Given the description of an element on the screen output the (x, y) to click on. 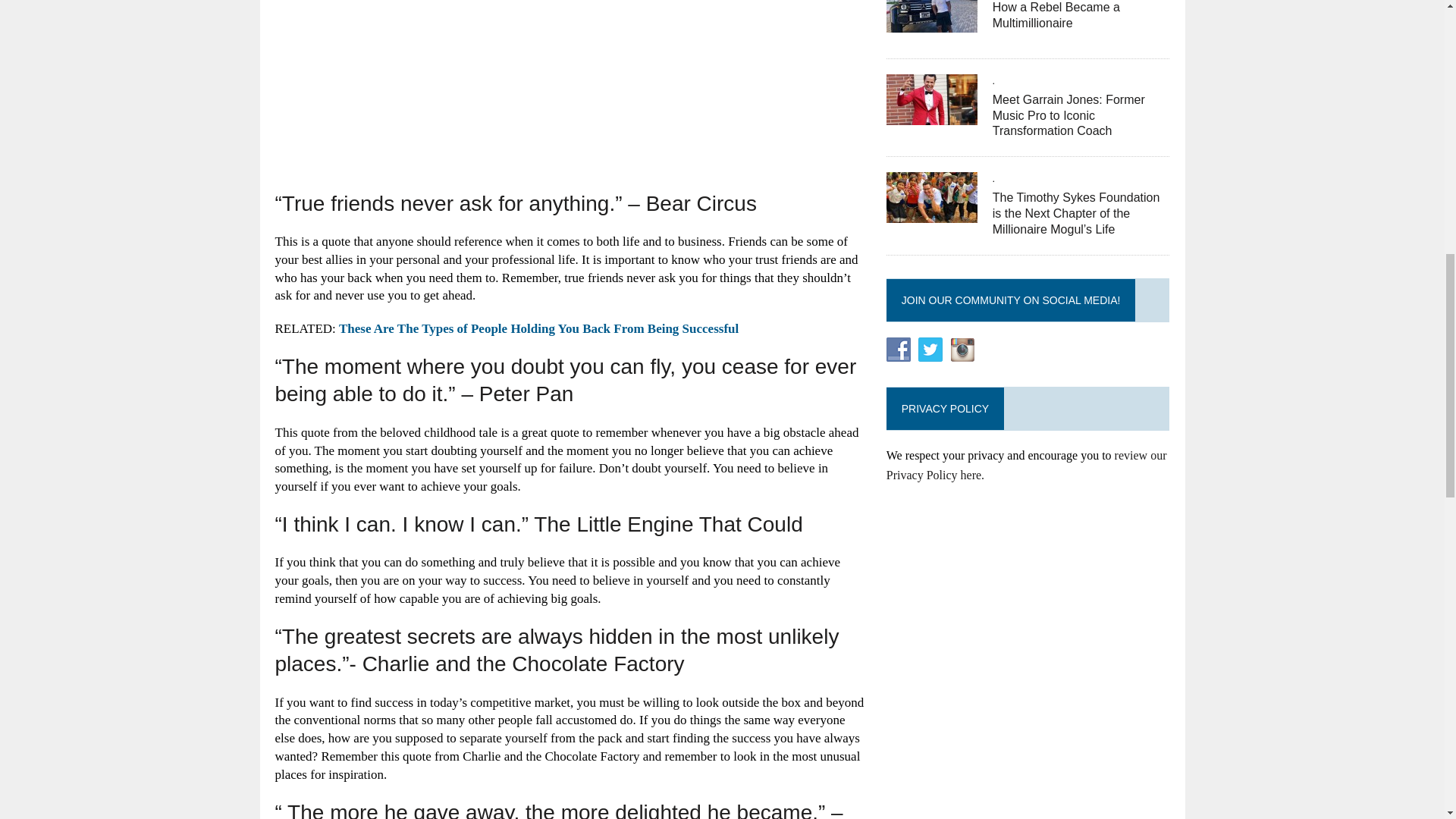
Advertisement (569, 94)
